Given the description of an element on the screen output the (x, y) to click on. 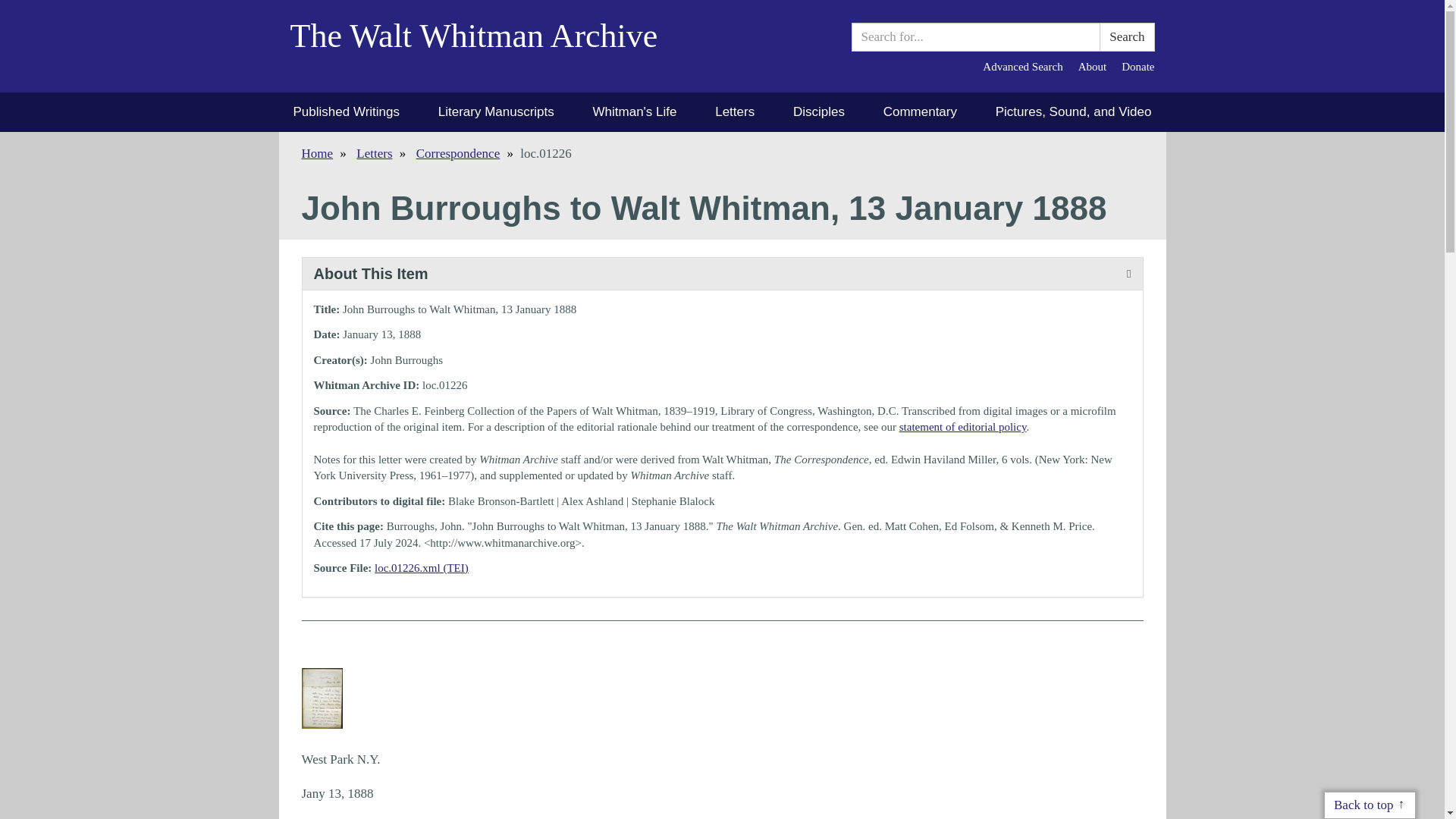
Disciples (818, 112)
Commentary (919, 112)
Pictures, Sound, and Video (1073, 112)
Advanced Search (1022, 66)
Search (1126, 36)
Literary Manuscripts (496, 112)
The Walt Whitman Archive (484, 46)
Search (1126, 36)
Correspondence (457, 153)
statement of editorial policy (962, 426)
Whitman's Life (634, 112)
Letters (373, 153)
About This Item (721, 273)
Published Writings (345, 112)
Home (317, 153)
